Given the description of an element on the screen output the (x, y) to click on. 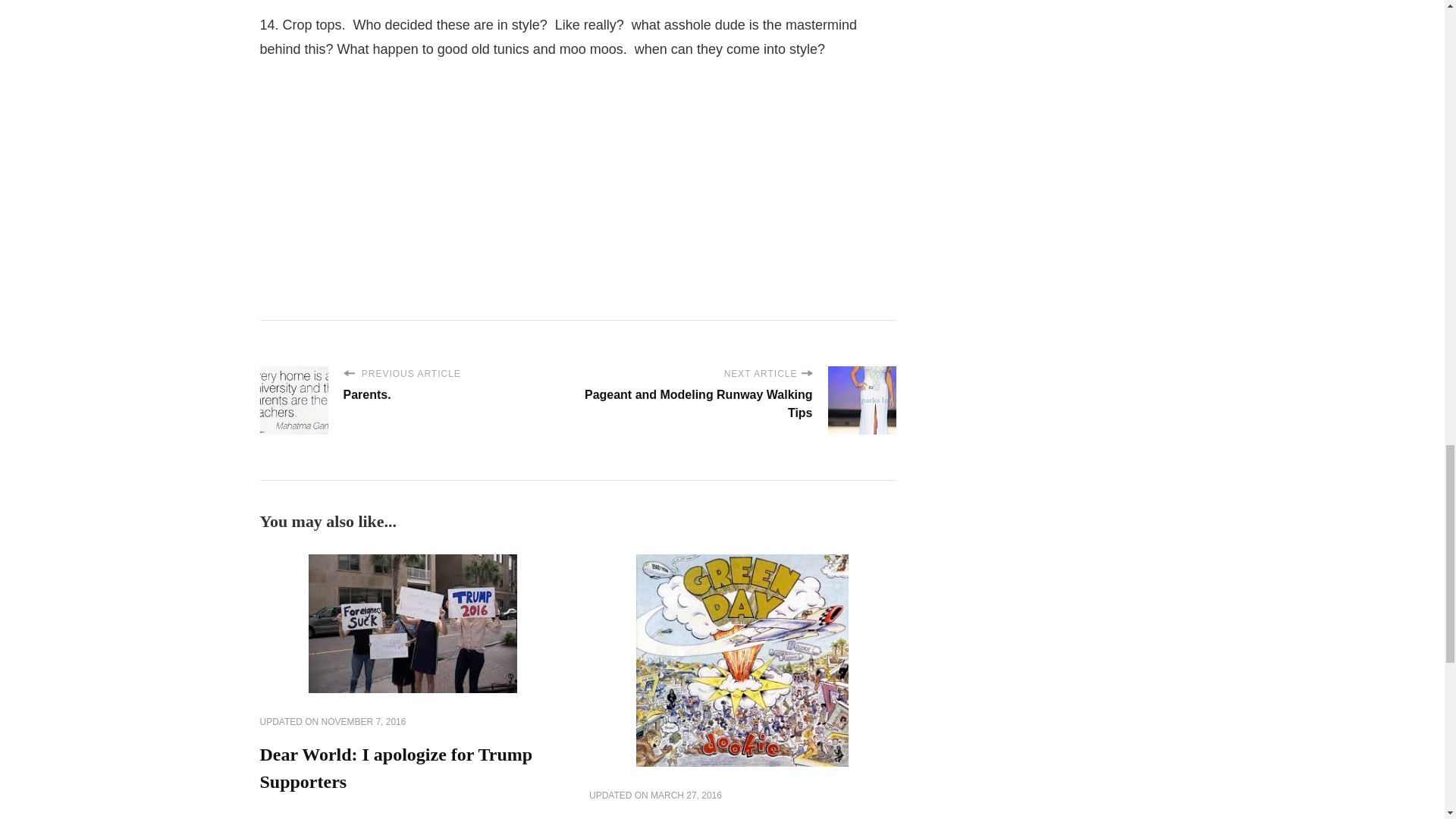
Advertisement (372, 171)
